Given the description of an element on the screen output the (x, y) to click on. 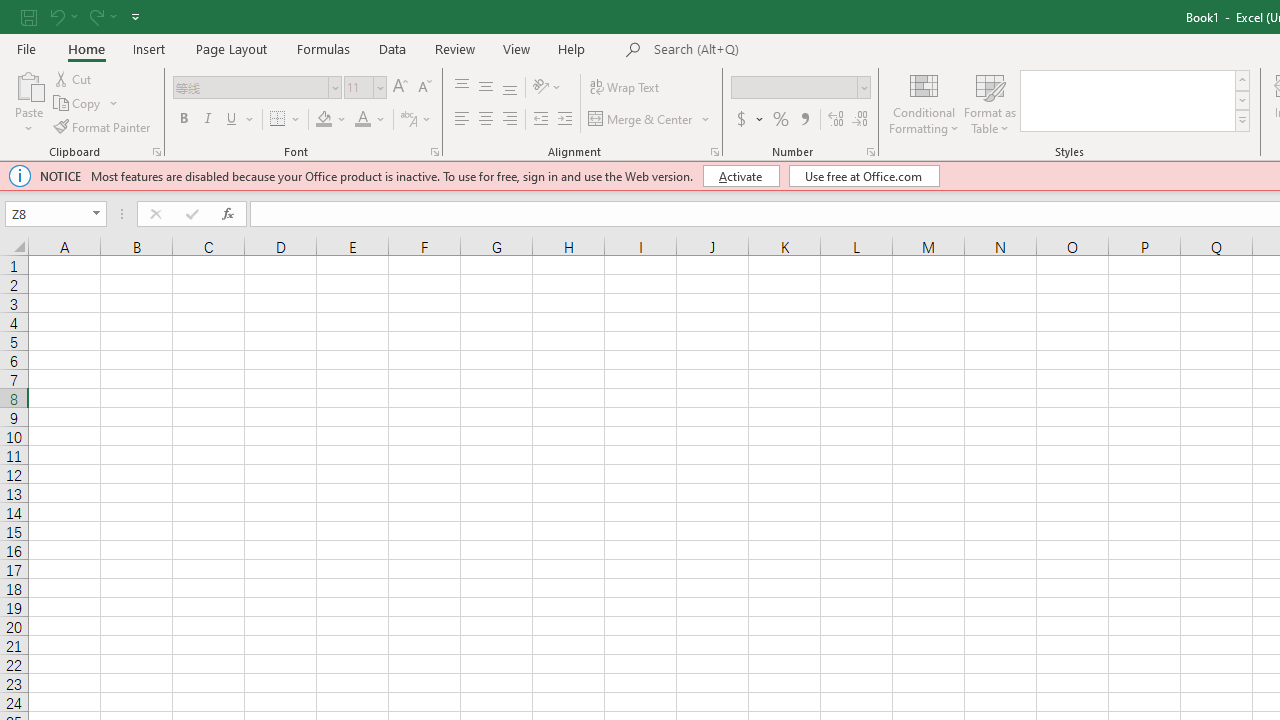
Paste (28, 102)
AutomationID: CellStylesGallery (1135, 100)
Comma Style (804, 119)
Top Align (461, 87)
Office Clipboard... (156, 151)
Merge & Center (641, 119)
Increase Indent (565, 119)
Increase Font Size (399, 87)
Wrap Text (624, 87)
Font (256, 87)
Activate (740, 175)
